Given the description of an element on the screen output the (x, y) to click on. 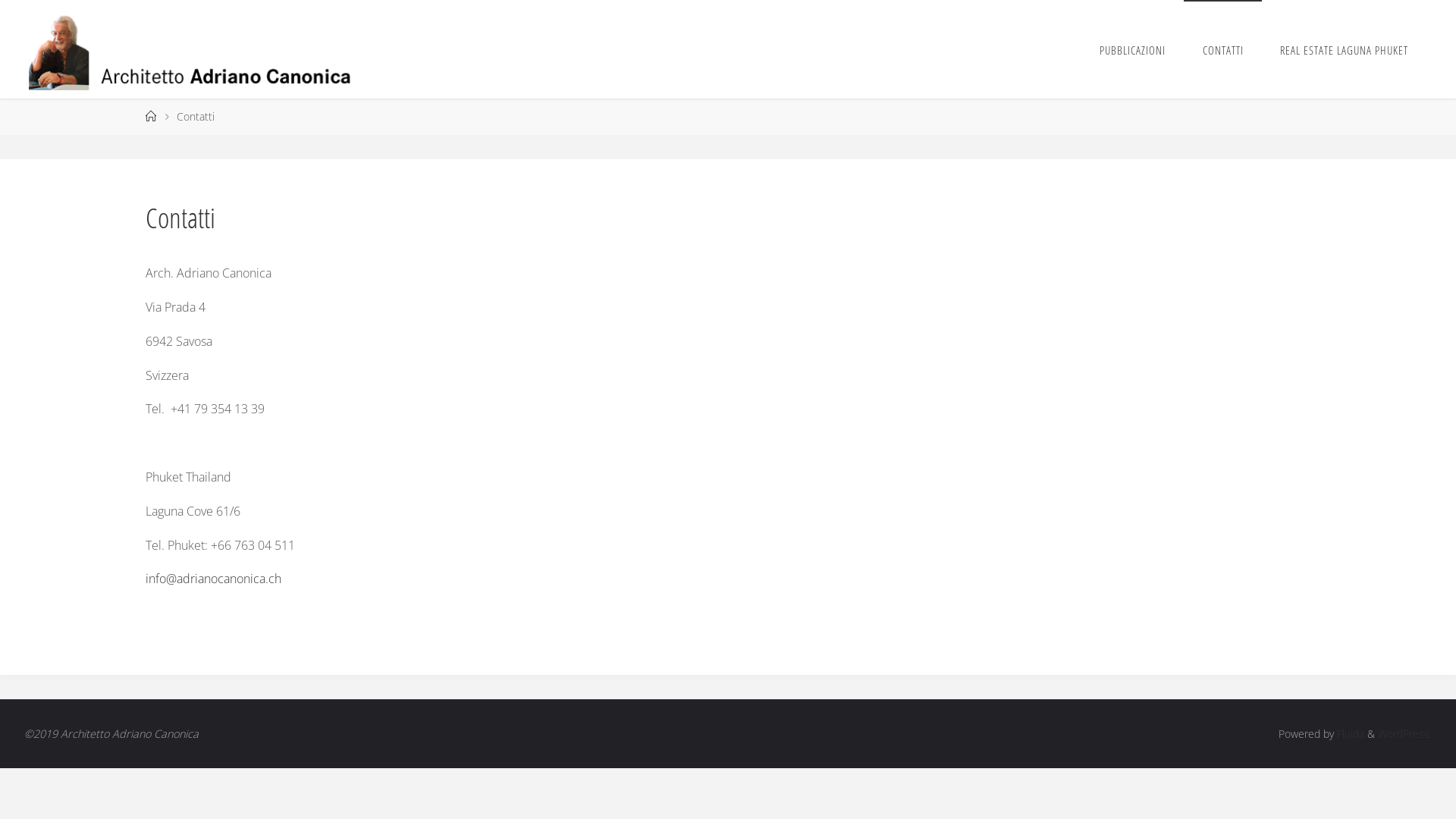
Fluida Element type: text (1348, 733)
WordPress. Element type: text (1404, 733)
Architetto Adriano Canonica Element type: hover (195, 48)
PUBBLICAZIONI Element type: text (1132, 49)
CONTATTI Element type: text (1222, 49)
Home Element type: text (150, 116)
REAL ESTATE LAGUNA PHUKET Element type: text (1344, 49)
info@adrianocanonica.ch Element type: text (213, 578)
